Given the description of an element on the screen output the (x, y) to click on. 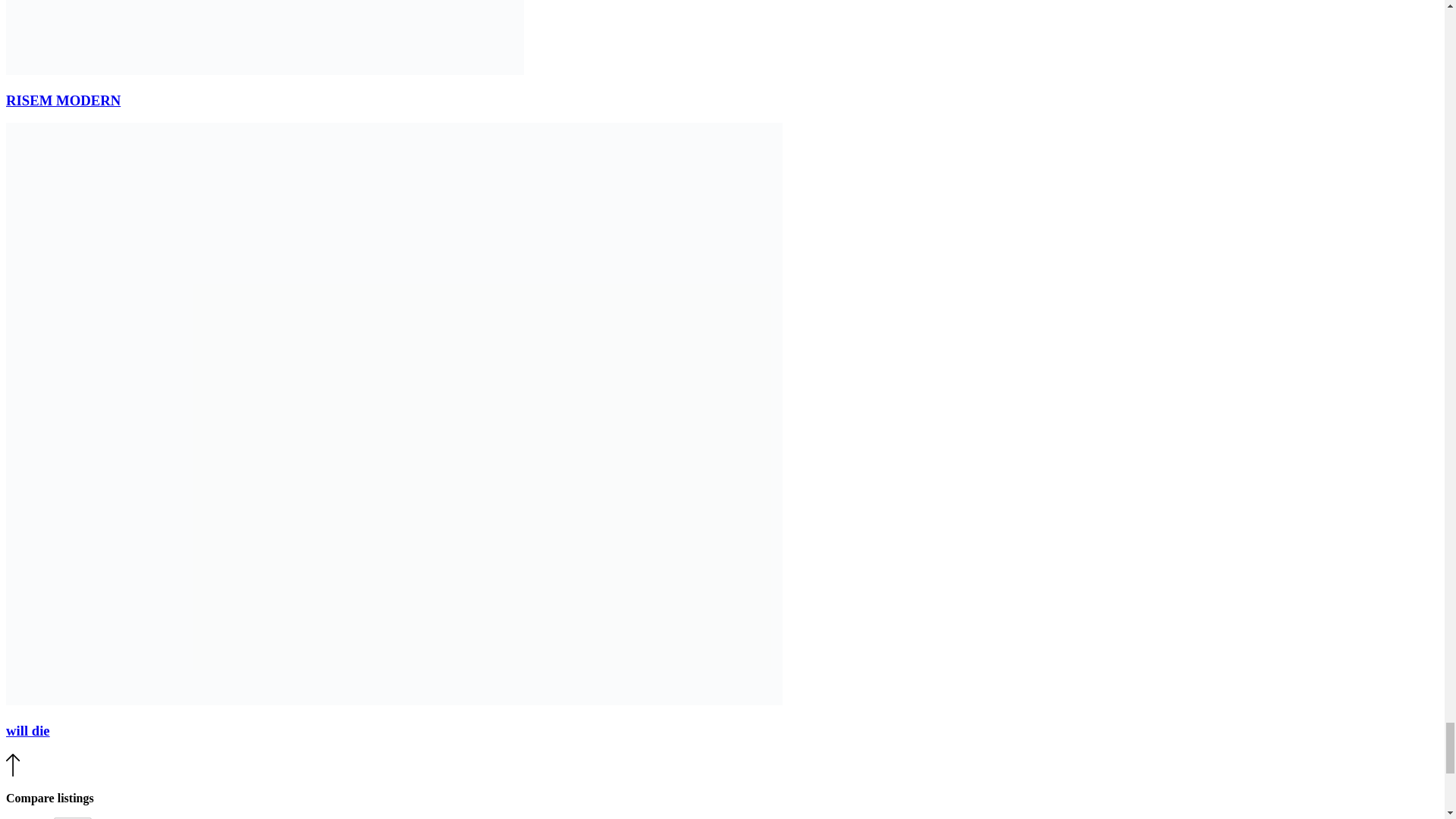
arrow (12, 764)
